Given the description of an element on the screen output the (x, y) to click on. 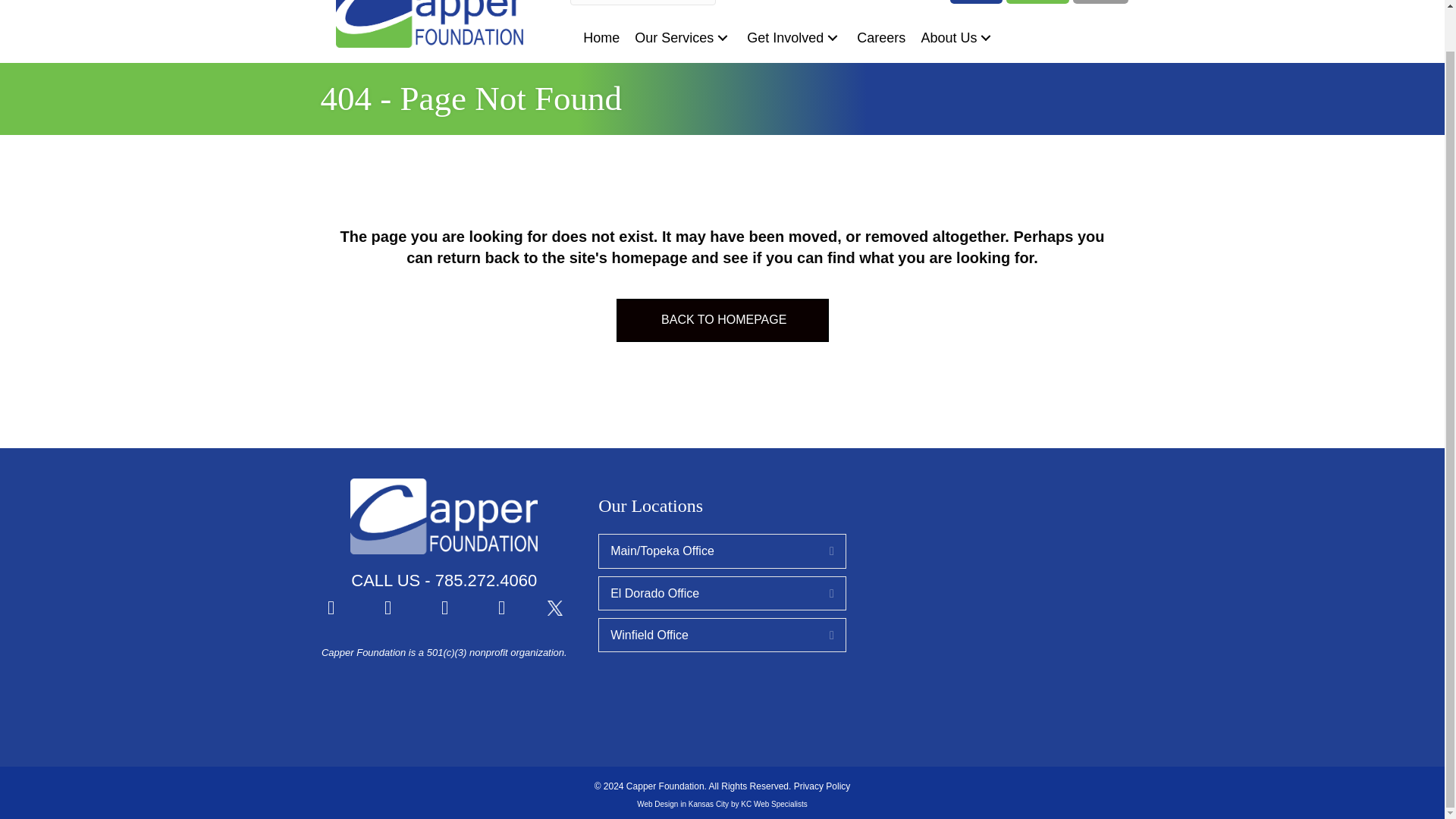
Capper-Foundation (429, 23)
Our Services (683, 37)
Type and press Enter to search. (643, 2)
YouTube (387, 607)
Instagram (444, 607)
Home (601, 37)
Facebook (330, 607)
LinkedIn (501, 607)
x-logo-white (554, 607)
Volunteer (1037, 2)
